Given the description of an element on the screen output the (x, y) to click on. 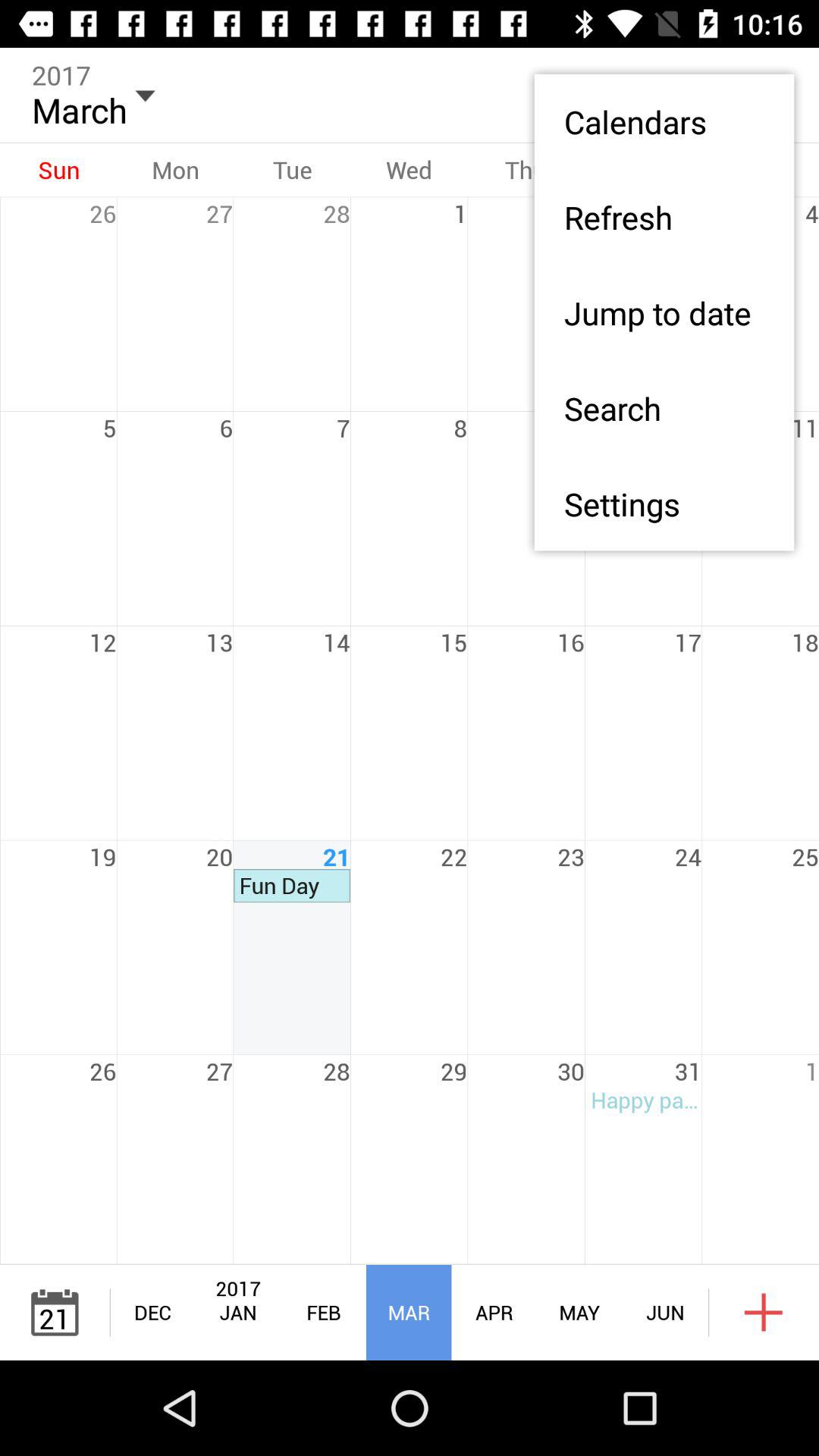
click app below the search (664, 503)
